Given the description of an element on the screen output the (x, y) to click on. 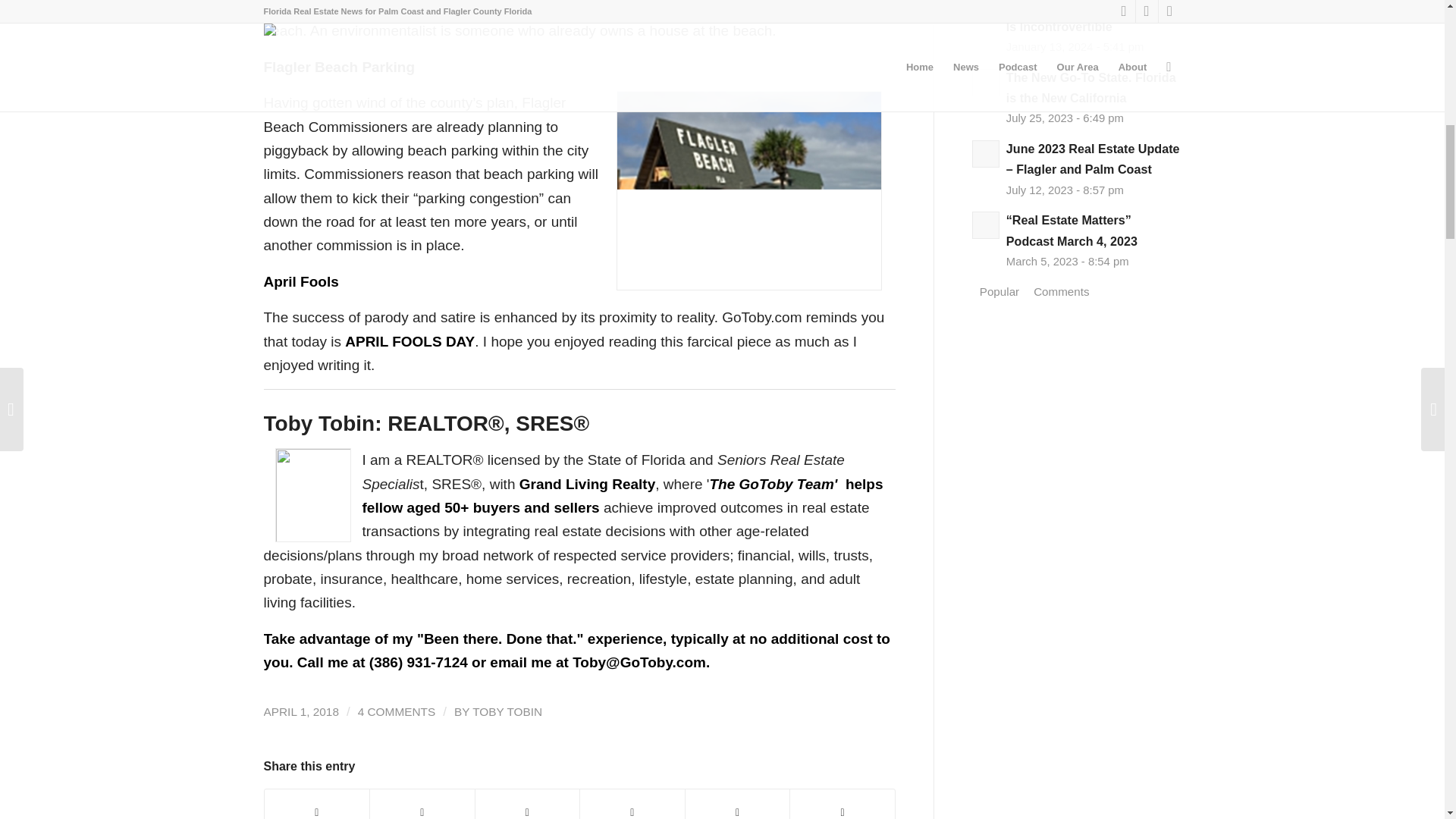
Posts by Toby Tobin (506, 711)
TOBY TOBIN (506, 711)
4 COMMENTS (396, 711)
